Given the description of an element on the screen output the (x, y) to click on. 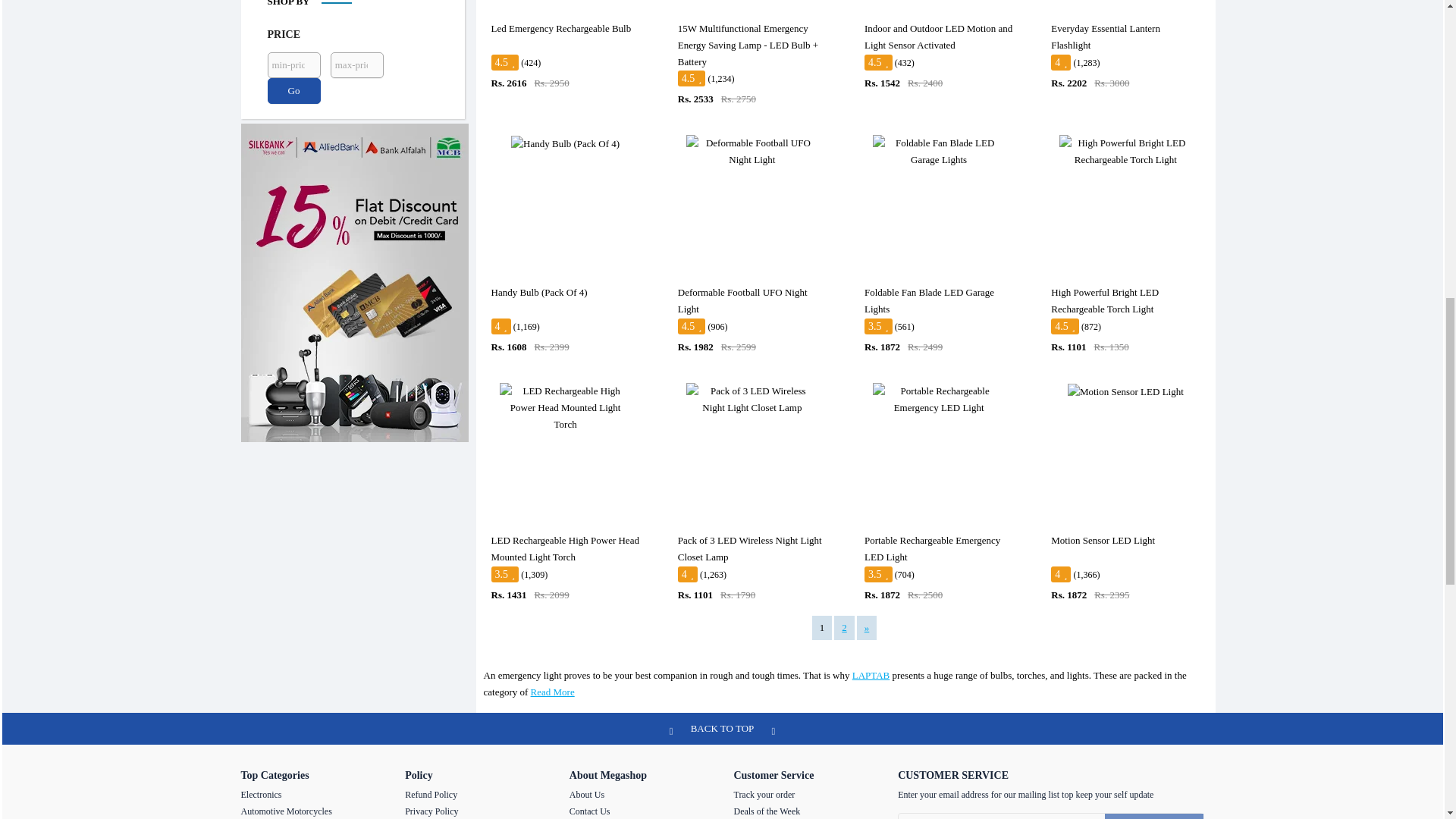
Motion Sensor LED Light (1125, 392)
Foldable Fan Blade LED Garage Lights (938, 151)
Go (293, 90)
High Powerful Bright LED Rechargeable Torch Light (1125, 151)
Deformable Football UFO Night Light (751, 151)
LED Rechargeable High Power Head Mounted Light Torch (565, 408)
Portable Rechargeable Emergency LED Light (938, 399)
Pack of 3 LED Wireless Night Light Closet Lamp (751, 399)
